Given the description of an element on the screen output the (x, y) to click on. 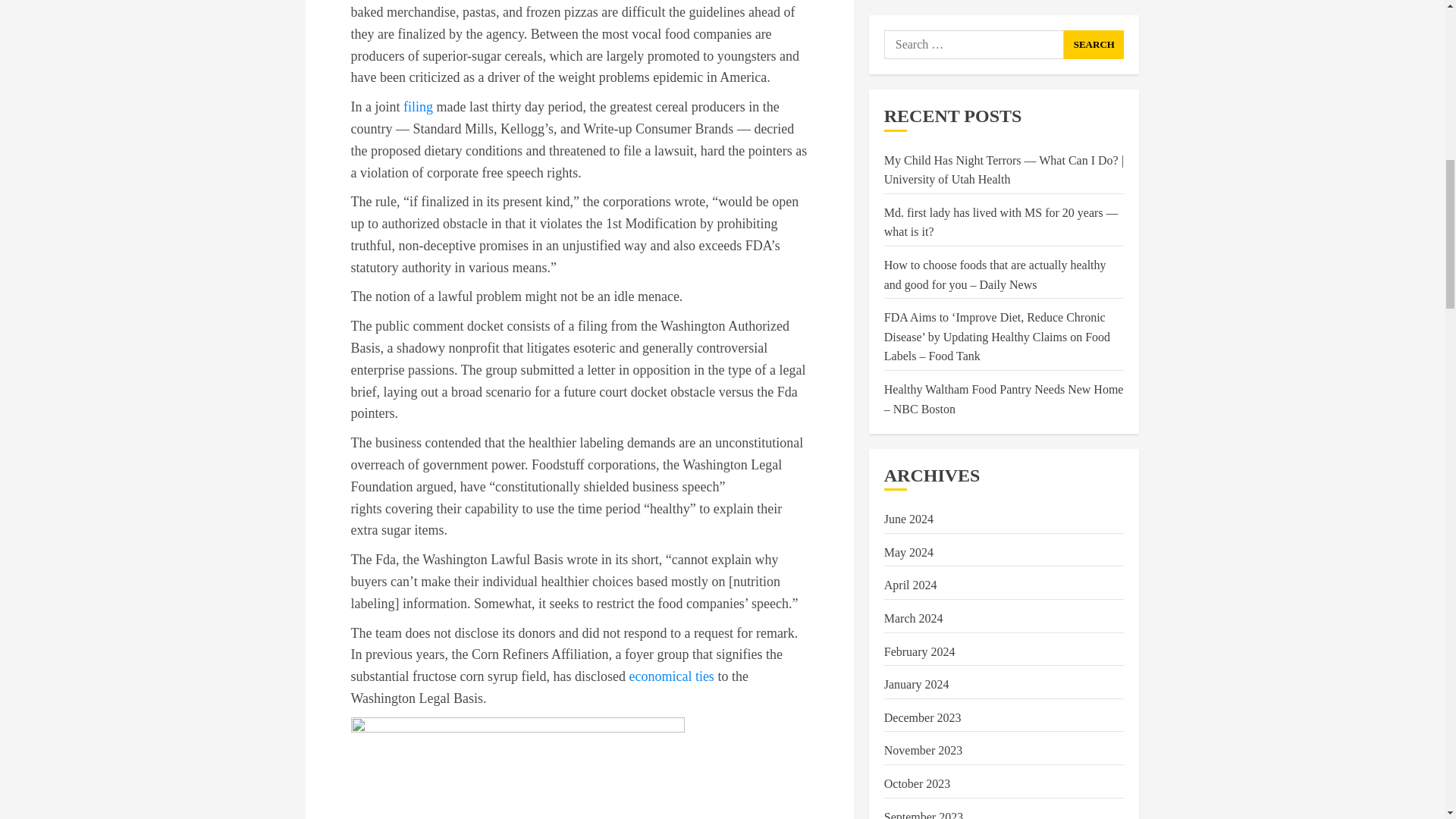
economical ties (670, 676)
filing (417, 106)
